Given the description of an element on the screen output the (x, y) to click on. 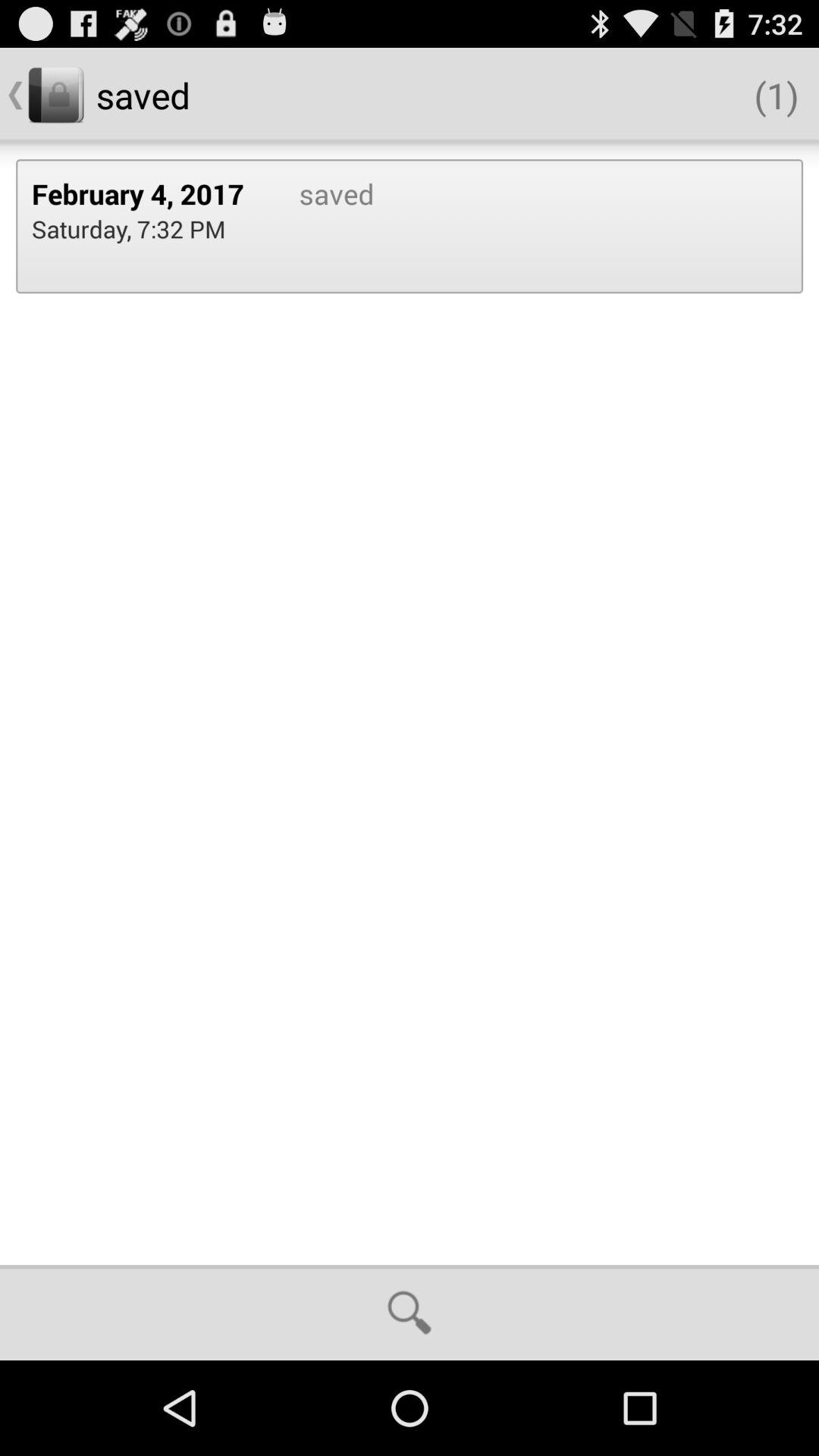
click app below saved app (409, 1312)
